Given the description of an element on the screen output the (x, y) to click on. 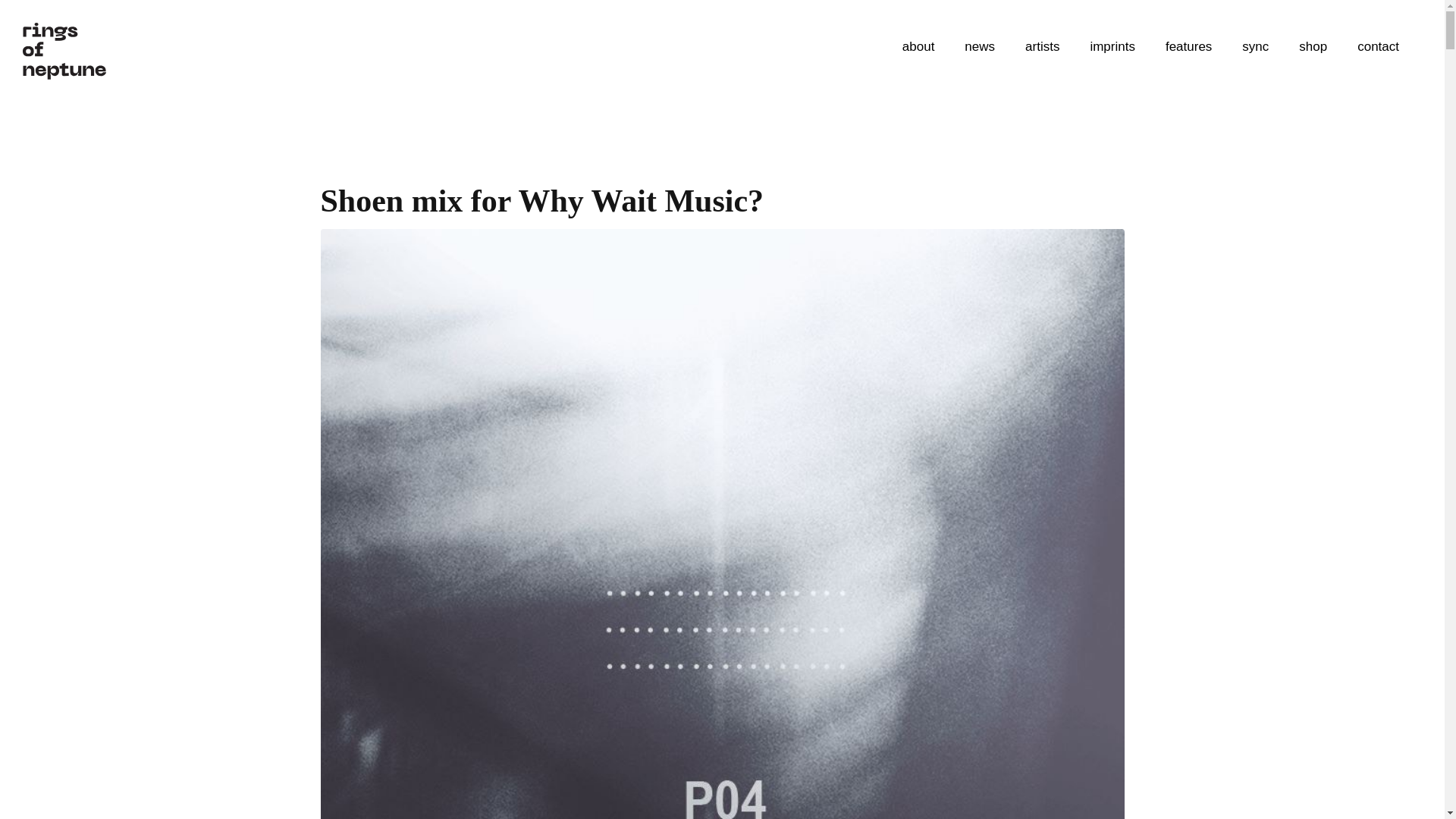
Shoen mix for Why Wait Music? (722, 628)
features (1188, 46)
artists (1042, 46)
Shoen mix for Why Wait Music? (541, 200)
news (979, 46)
contact (1377, 46)
imprints (1112, 46)
Shoen mix for Why Wait Music? (541, 200)
sync (1255, 46)
about (918, 46)
shop (1313, 46)
